Given the description of an element on the screen output the (x, y) to click on. 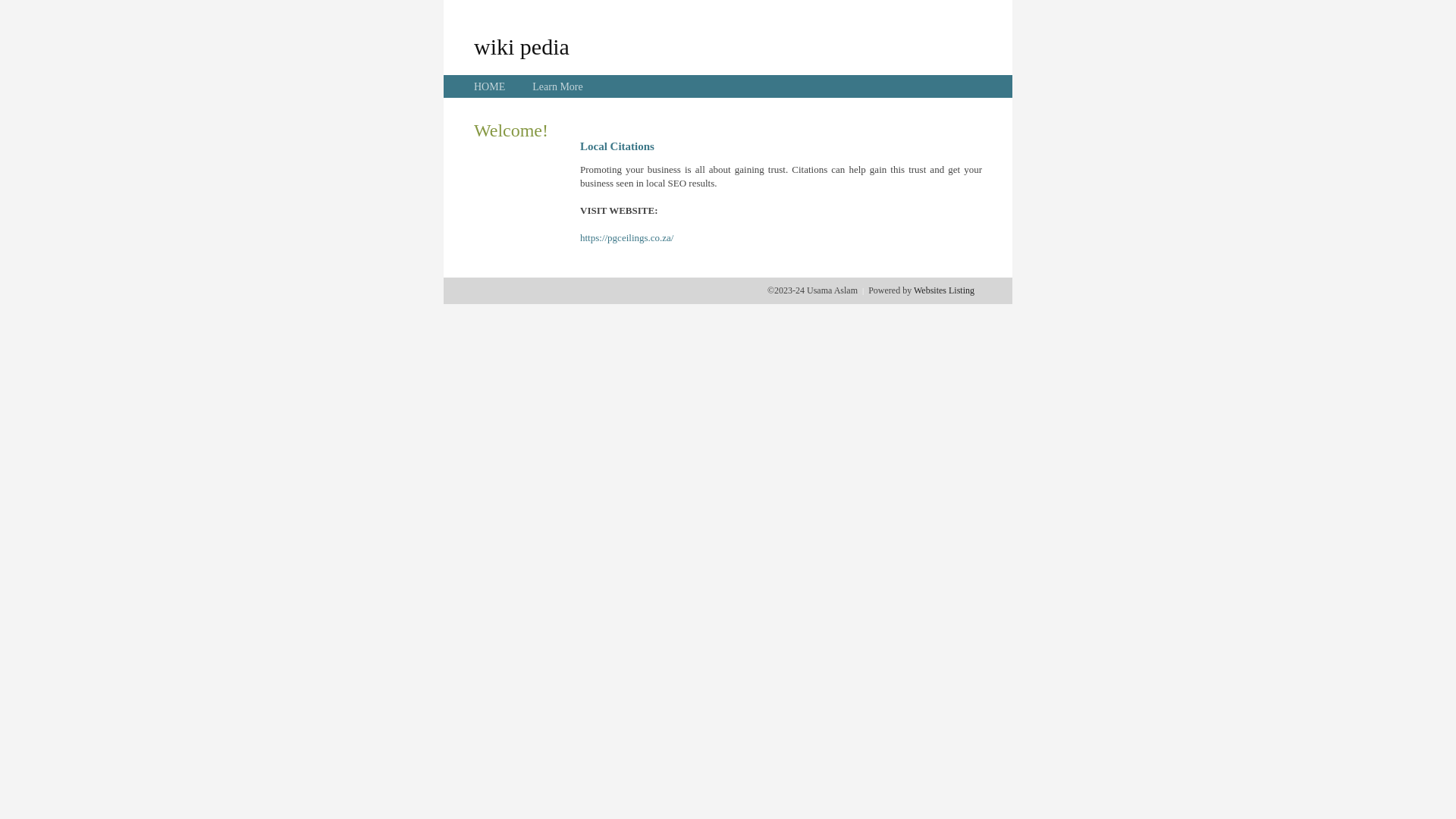
HOME Element type: text (489, 86)
Learn More Element type: text (557, 86)
https://pgceilings.co.za/ Element type: text (626, 237)
Websites Listing Element type: text (943, 290)
wiki pedia Element type: text (521, 46)
